Given the description of an element on the screen output the (x, y) to click on. 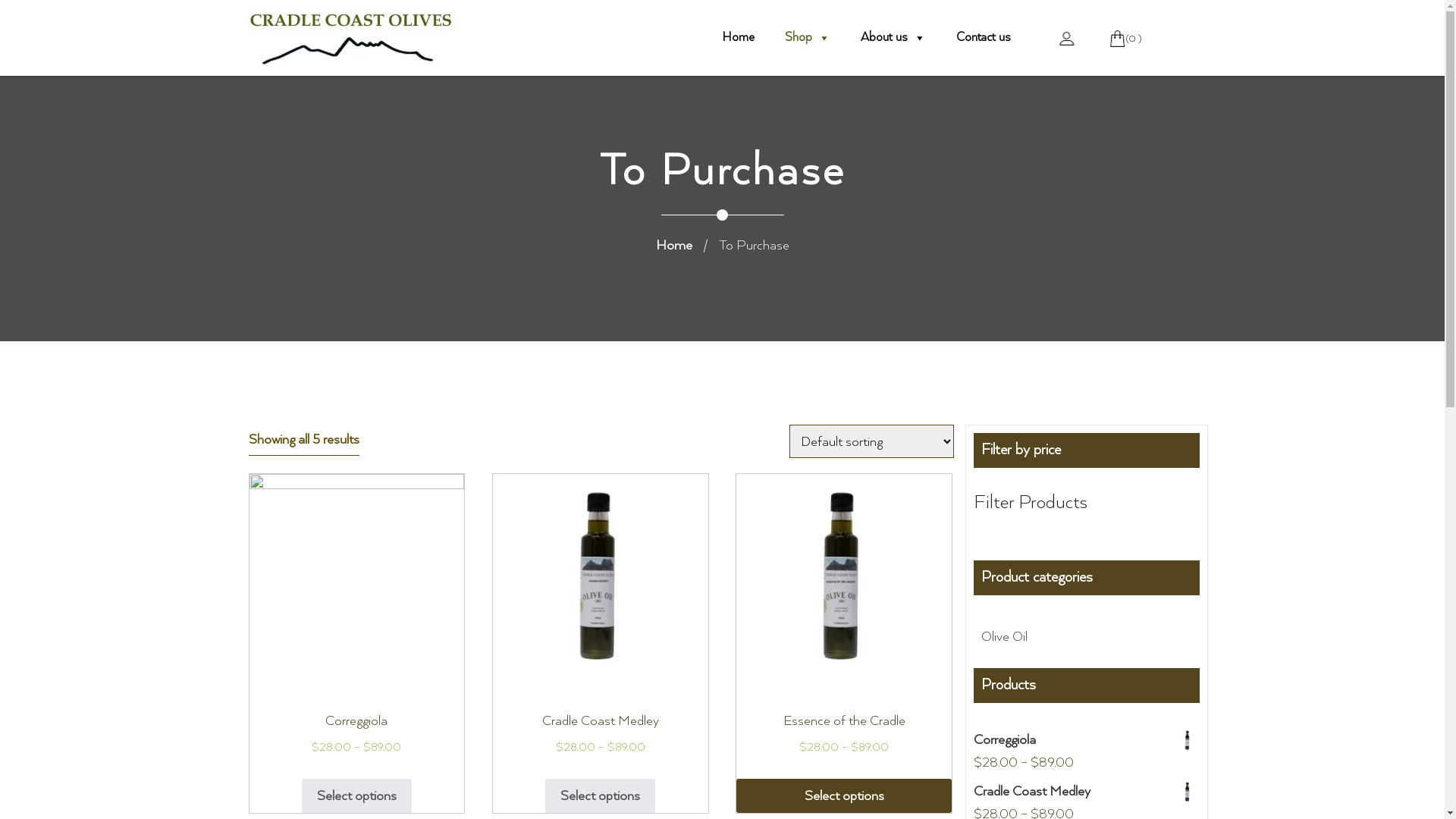
Cradle Coast Medley Element type: text (1086, 791)
Shop Element type: text (806, 37)
Correggiola Element type: text (1086, 739)
(0 ) Element type: text (1123, 37)
Select options Element type: text (843, 795)
Home Element type: text (738, 37)
Select options Element type: text (600, 795)
Select options Element type: text (356, 795)
About us Element type: text (892, 37)
Contact us Element type: text (982, 37)
Olive Oil Element type: text (1004, 636)
Home Element type: text (673, 245)
